Given the description of an element on the screen output the (x, y) to click on. 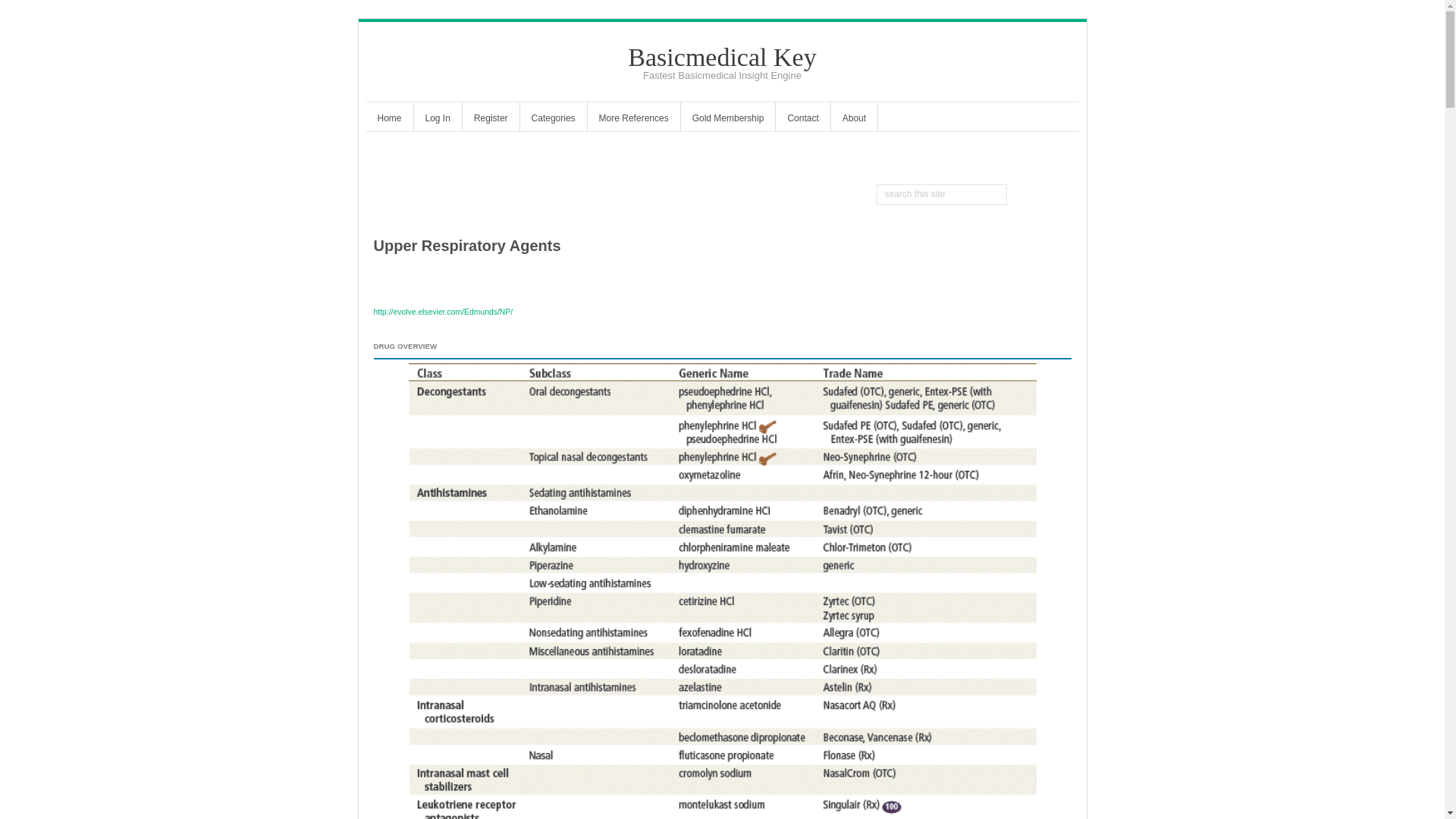
More References (633, 119)
About (854, 119)
Basicmedical Key (721, 57)
Contact (802, 119)
Log In (437, 119)
Home (388, 119)
Register (491, 119)
Categories (552, 119)
Basicmedical Key (721, 57)
Gold Membership (728, 119)
